Given the description of an element on the screen output the (x, y) to click on. 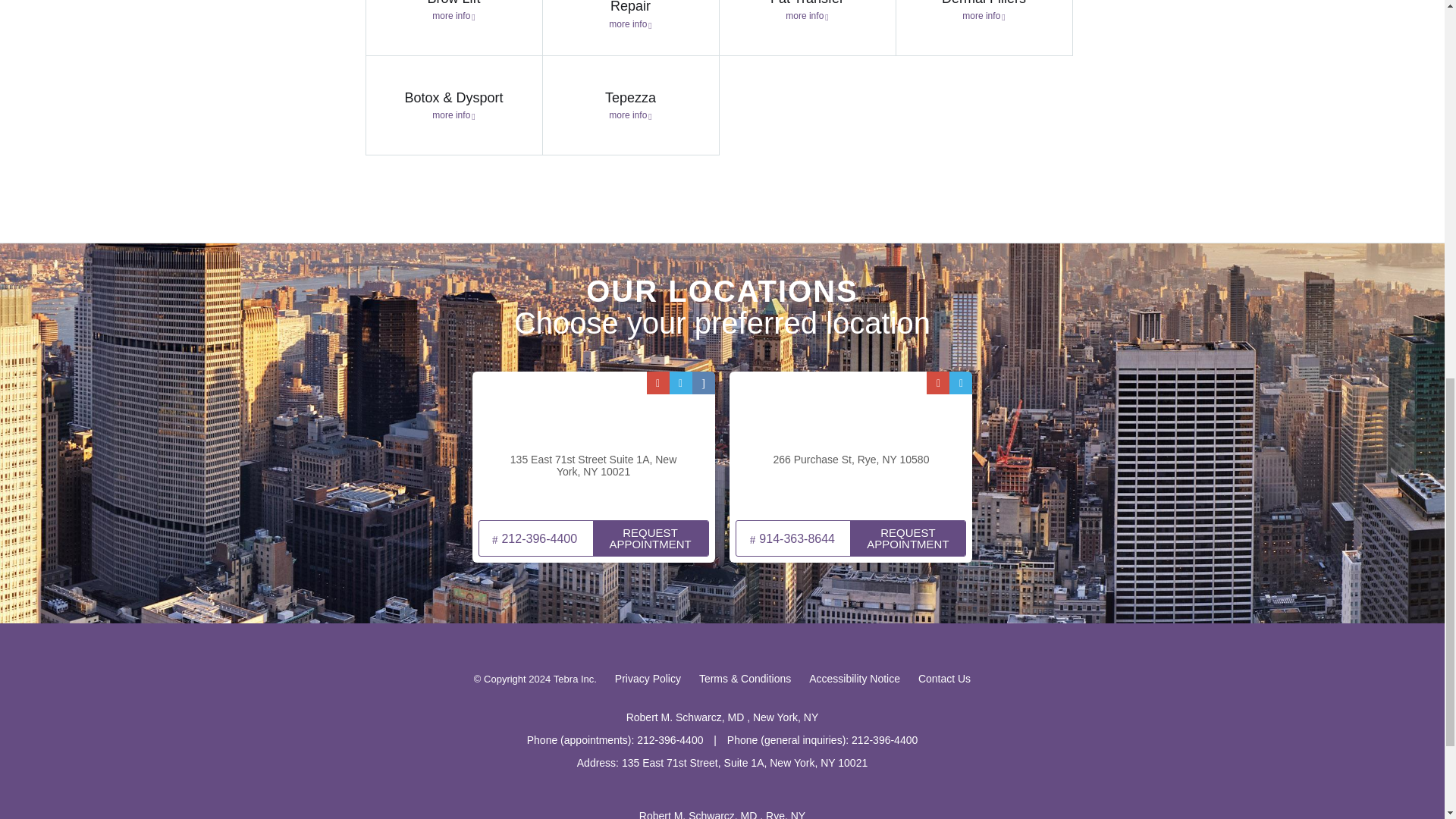
Map of Manhattan Office (592, 443)
Map of Rye (850, 443)
